Given the description of an element on the screen output the (x, y) to click on. 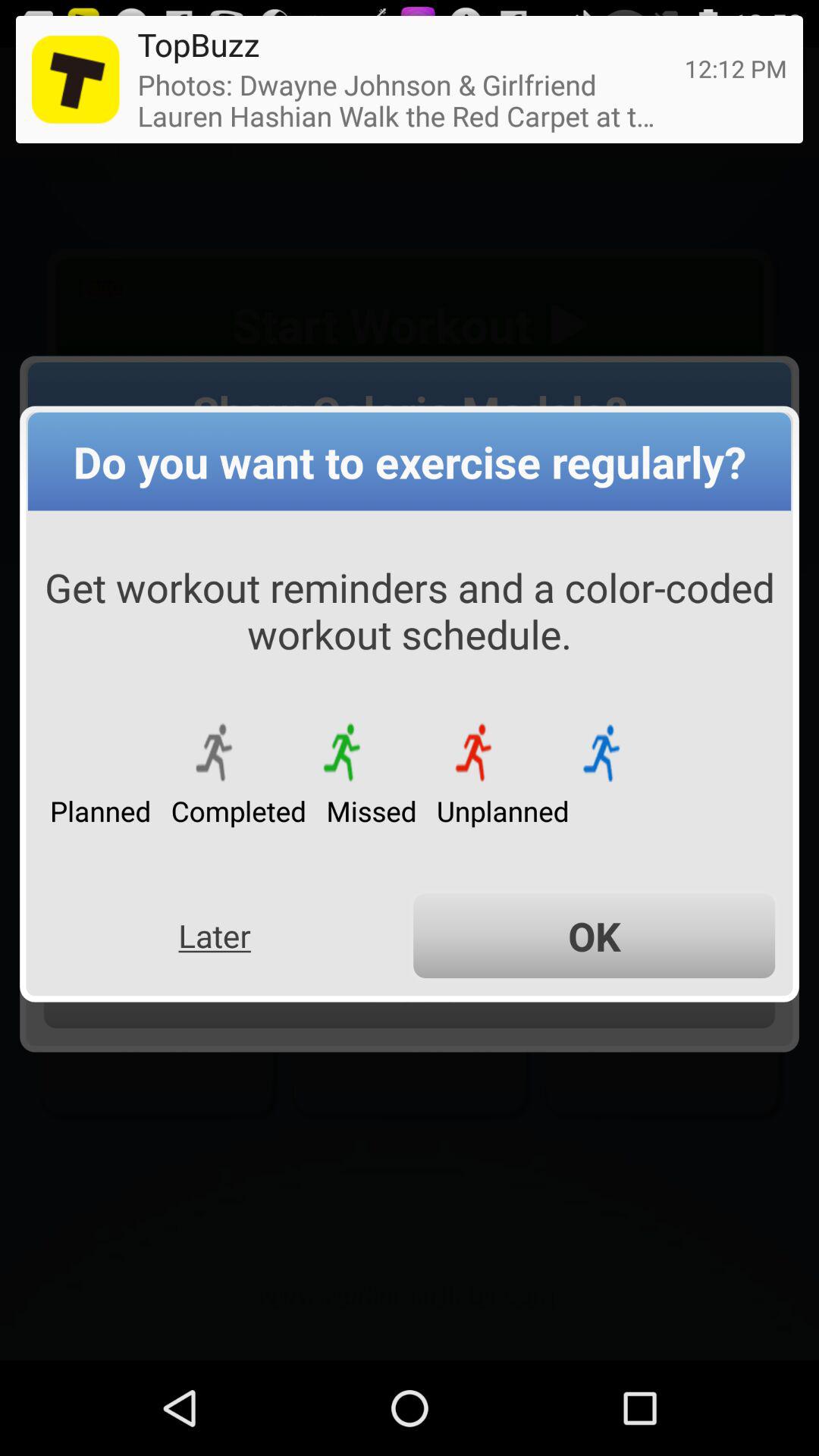
choose item next to the later app (594, 935)
